Given the description of an element on the screen output the (x, y) to click on. 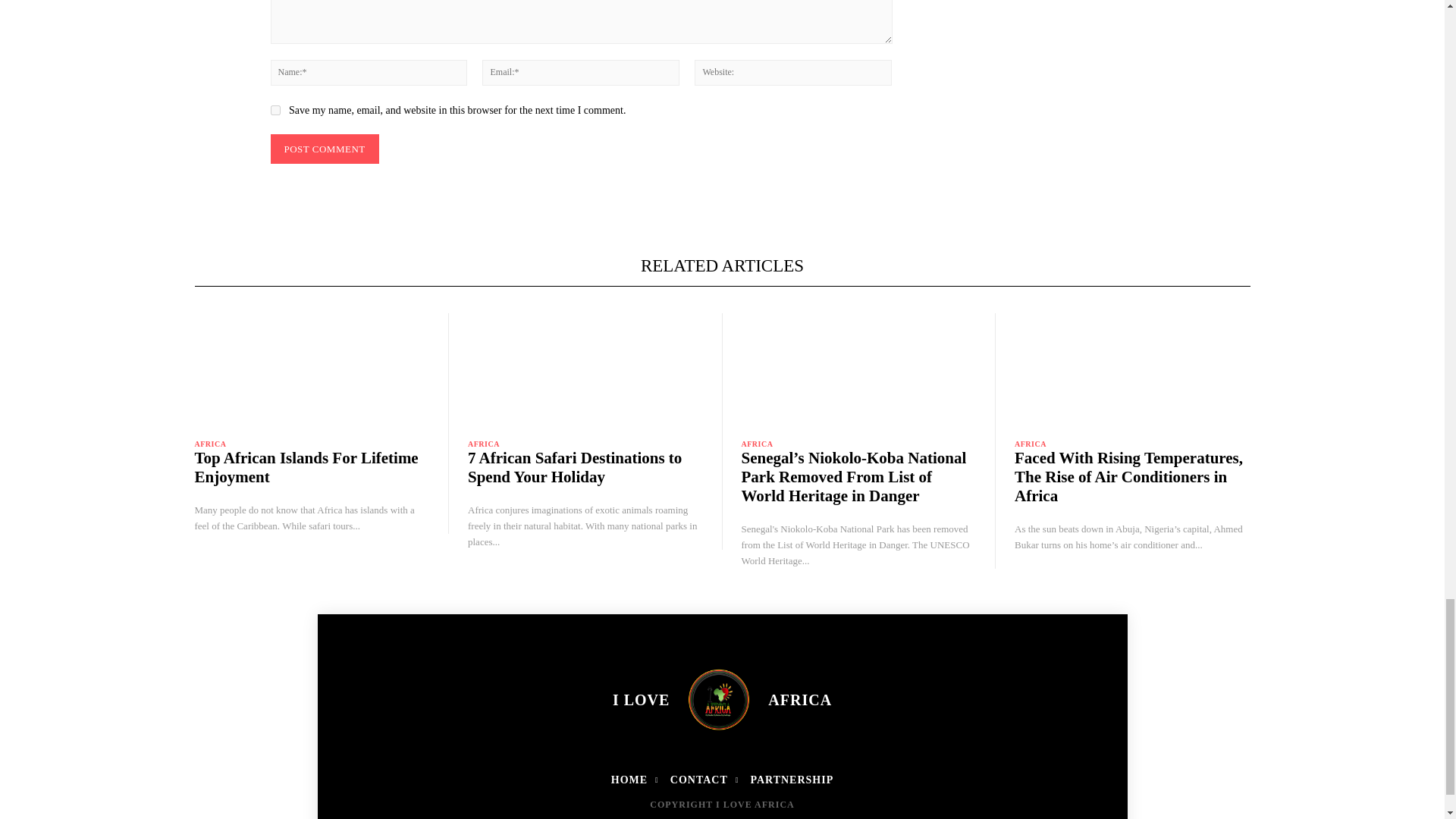
Post Comment (323, 148)
yes (274, 110)
